Given the description of an element on the screen output the (x, y) to click on. 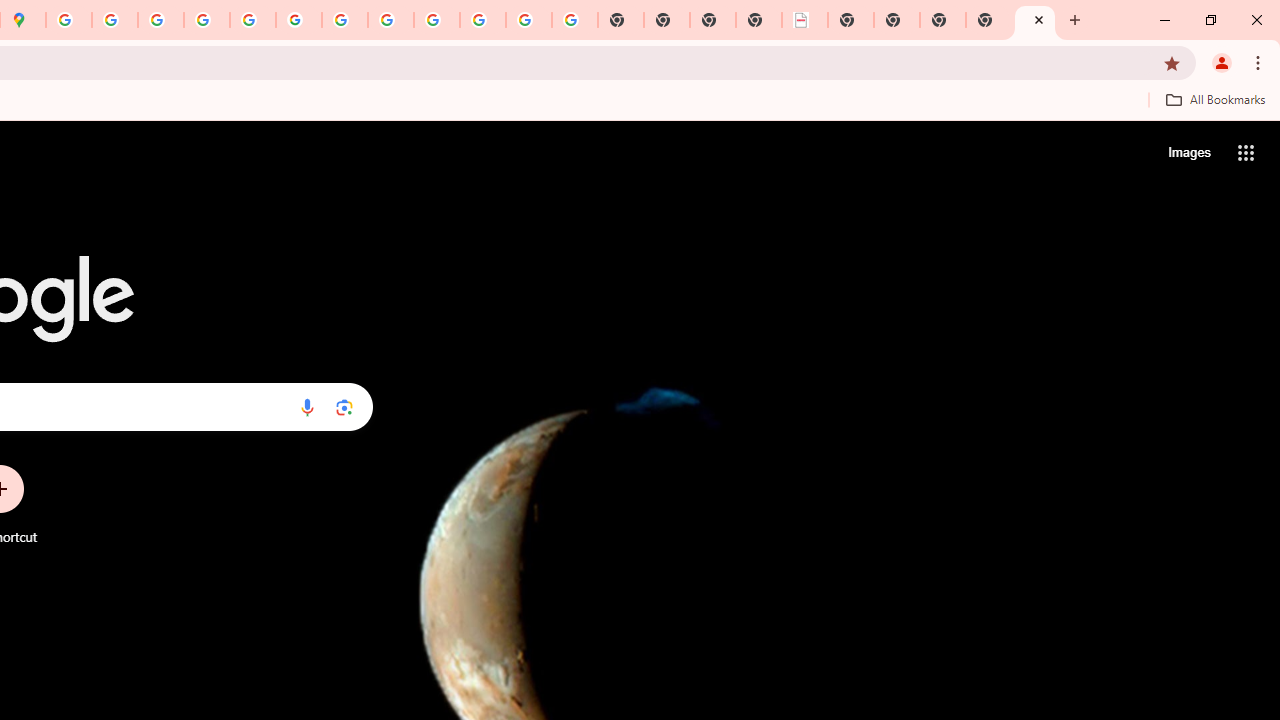
New Tab (1035, 20)
Search for Images  (1188, 152)
Privacy Help Center - Policies Help (207, 20)
Privacy Help Center - Policies Help (161, 20)
Sign in - Google Accounts (69, 20)
Browse Chrome as a guest - Computer - Google Chrome Help (390, 20)
